Given the description of an element on the screen output the (x, y) to click on. 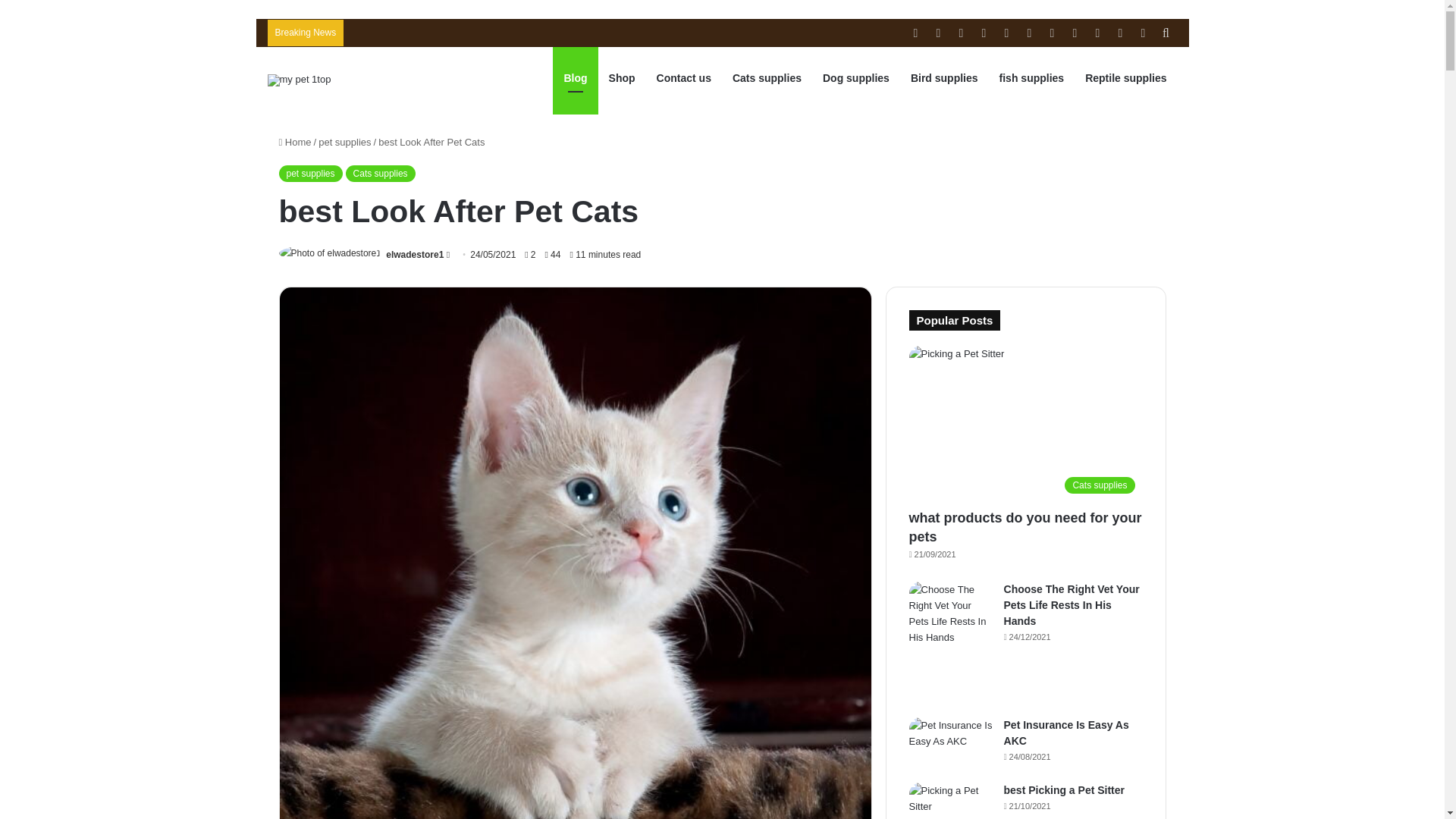
Dog supplies (855, 77)
my pet 1top (298, 80)
Cats supplies (767, 77)
Home (295, 142)
Reptile supplies (1125, 77)
fish supplies (1031, 77)
pet supplies (310, 173)
pet supplies (344, 142)
Bird supplies (943, 77)
Cats supplies (380, 173)
Contact us (684, 77)
elwadestore1 (414, 254)
